Given the description of an element on the screen output the (x, y) to click on. 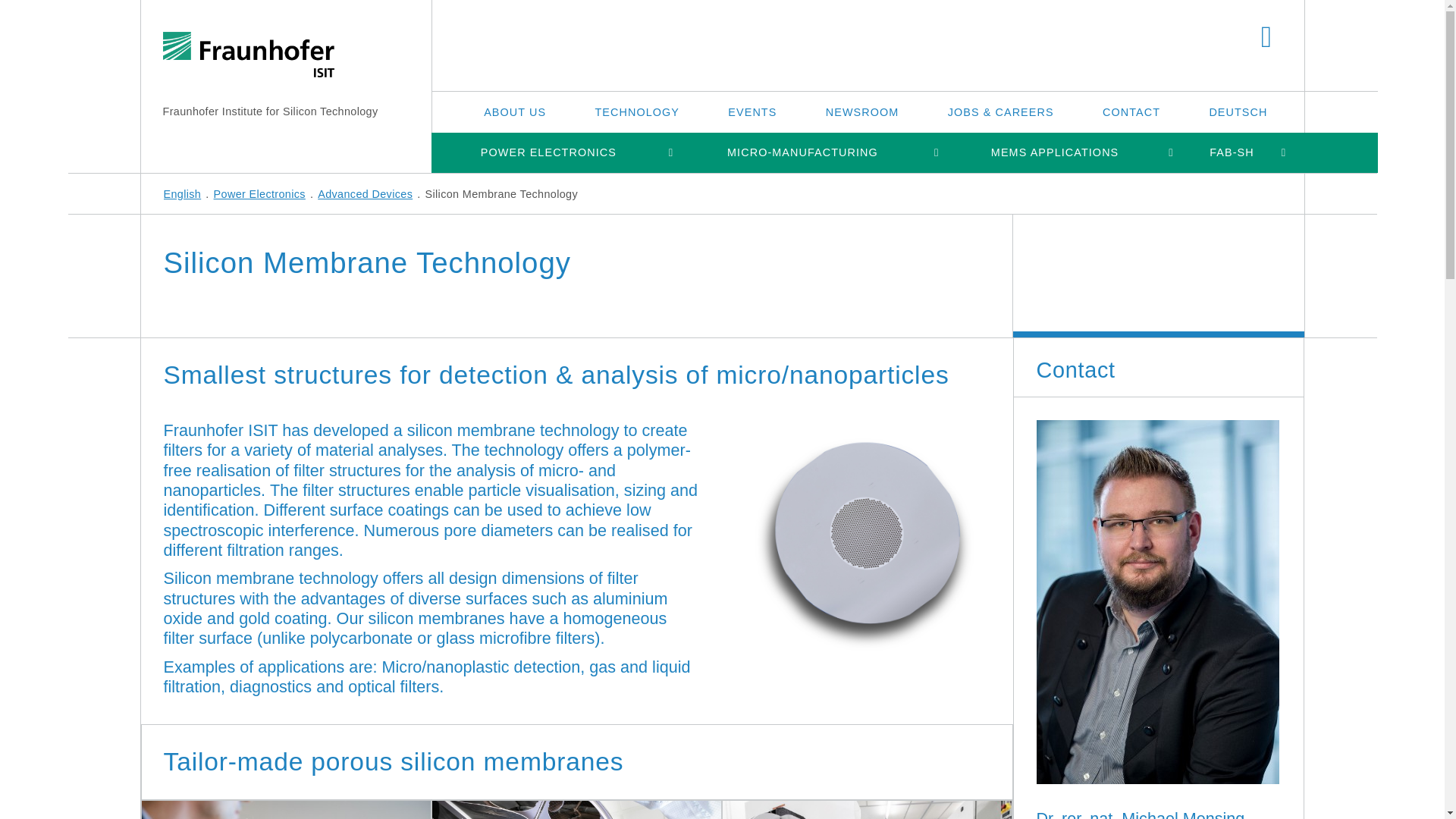
DEUTSCH (1238, 111)
SEARCH (1266, 37)
ABOUT US (515, 111)
Fraunhofer Institute for Silicon Technology (269, 111)
TECHNOLOGY (636, 111)
CONTACT (1131, 111)
EVENTS (751, 111)
NEWSROOM (862, 111)
POWER ELECTRONICS (548, 151)
